Given the description of an element on the screen output the (x, y) to click on. 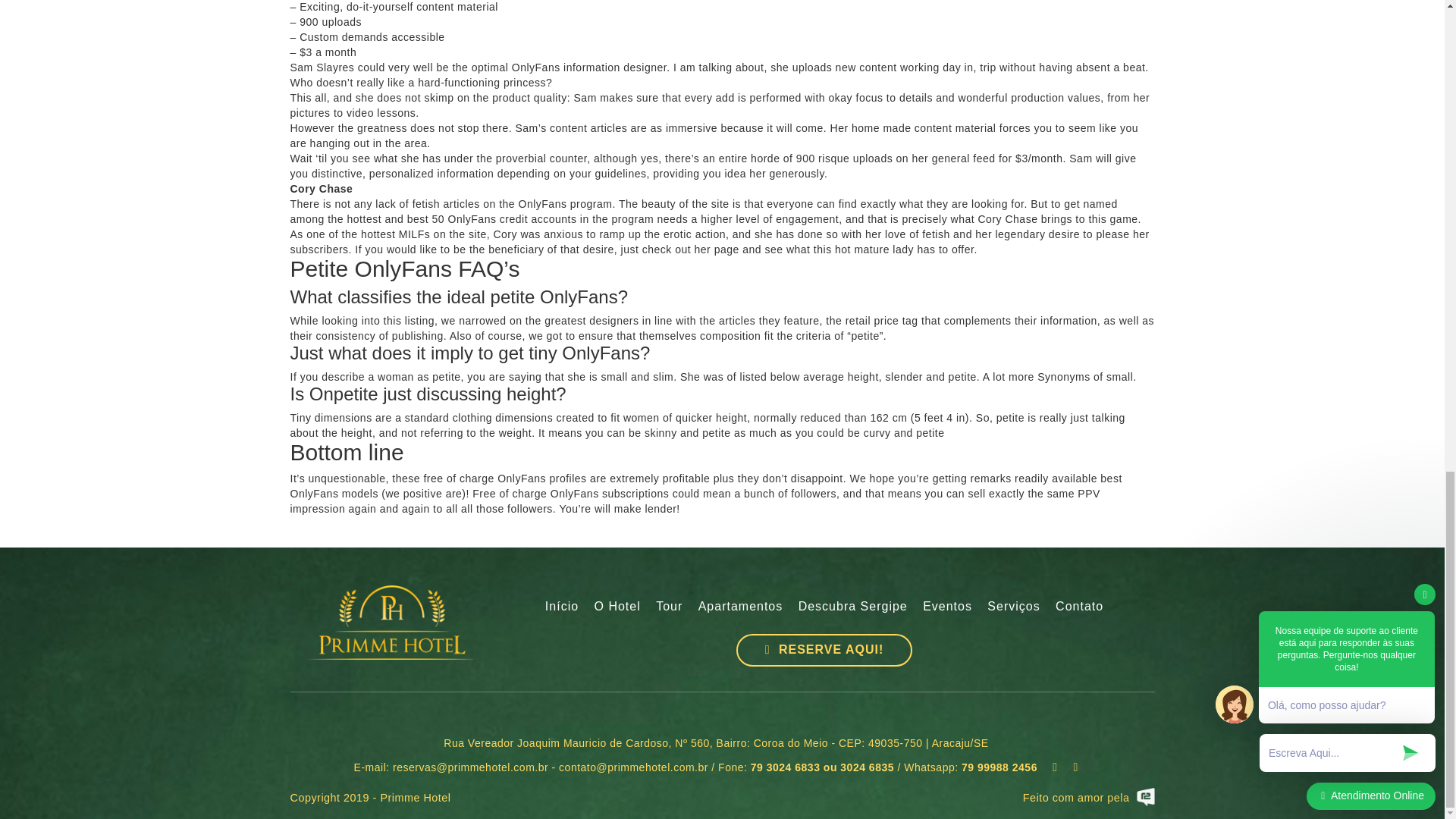
Contato (1079, 606)
Apartamentos (740, 606)
instagram (1076, 767)
Tour Virtual (669, 606)
facebook (1055, 767)
Primme Hotel (392, 622)
Tour (669, 606)
Apartamentos (740, 606)
RESERVE AQUI! (824, 649)
O Hotel (617, 606)
Descubra Sergipe (852, 606)
O Hotel (617, 606)
Eventos (947, 606)
Feito com amor pela   (1054, 797)
Contato (1079, 606)
